Given the description of an element on the screen output the (x, y) to click on. 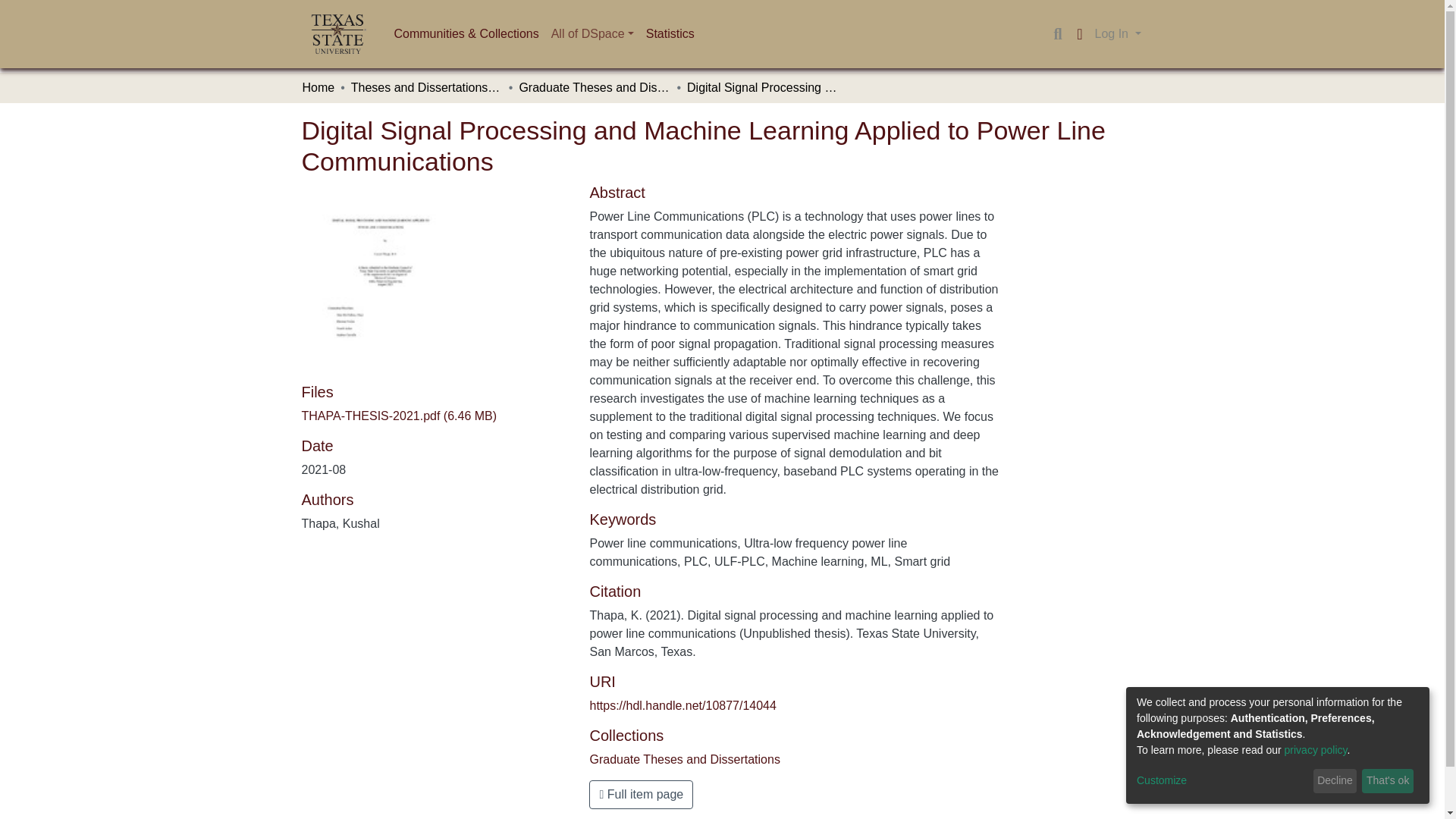
Graduate Theses and Dissertations (593, 87)
Full item page (641, 794)
Customize (1222, 780)
Statistics (670, 33)
privacy policy (1316, 749)
Search (1057, 34)
All of DSpace (592, 33)
Log In (1117, 33)
Theses and Dissertations, Capstones, and Directed Research (426, 87)
Decline (1334, 781)
Language switch (1079, 34)
That's ok (1387, 781)
Statistics (670, 33)
Graduate Theses and Dissertations (683, 758)
Home (317, 87)
